Given the description of an element on the screen output the (x, y) to click on. 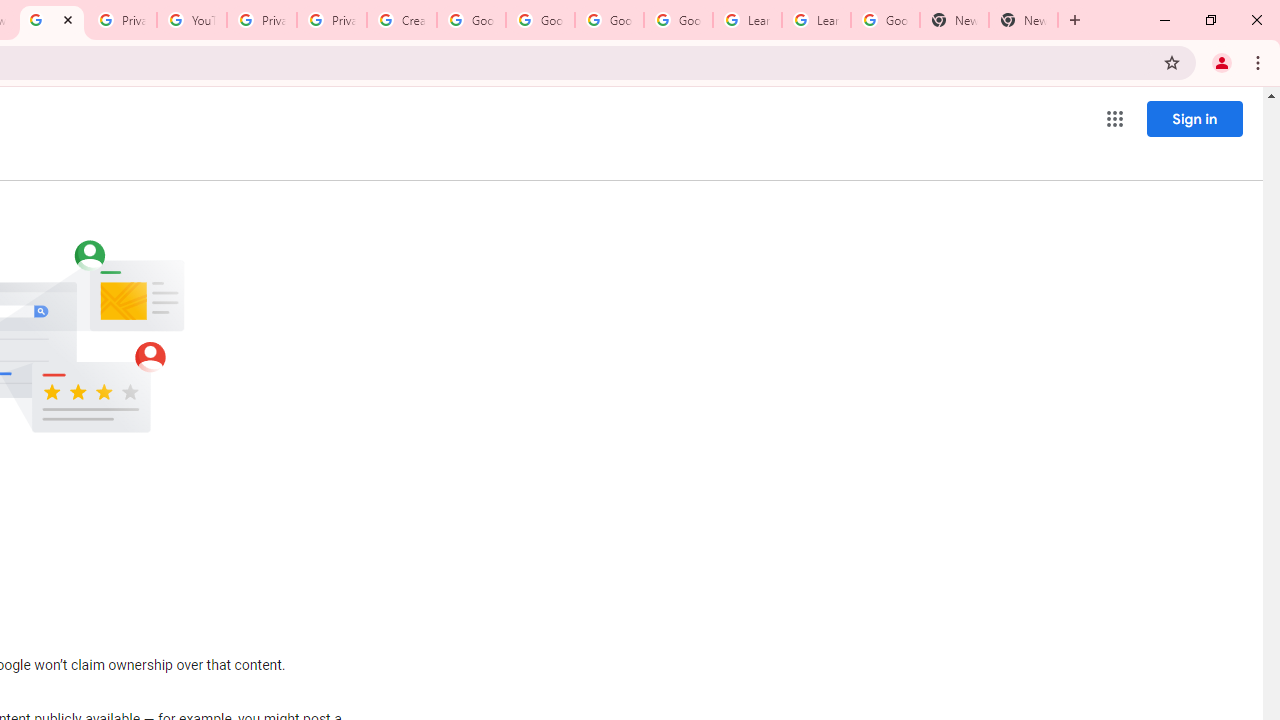
YouTube (191, 20)
New Tab (954, 20)
